Given the description of an element on the screen output the (x, y) to click on. 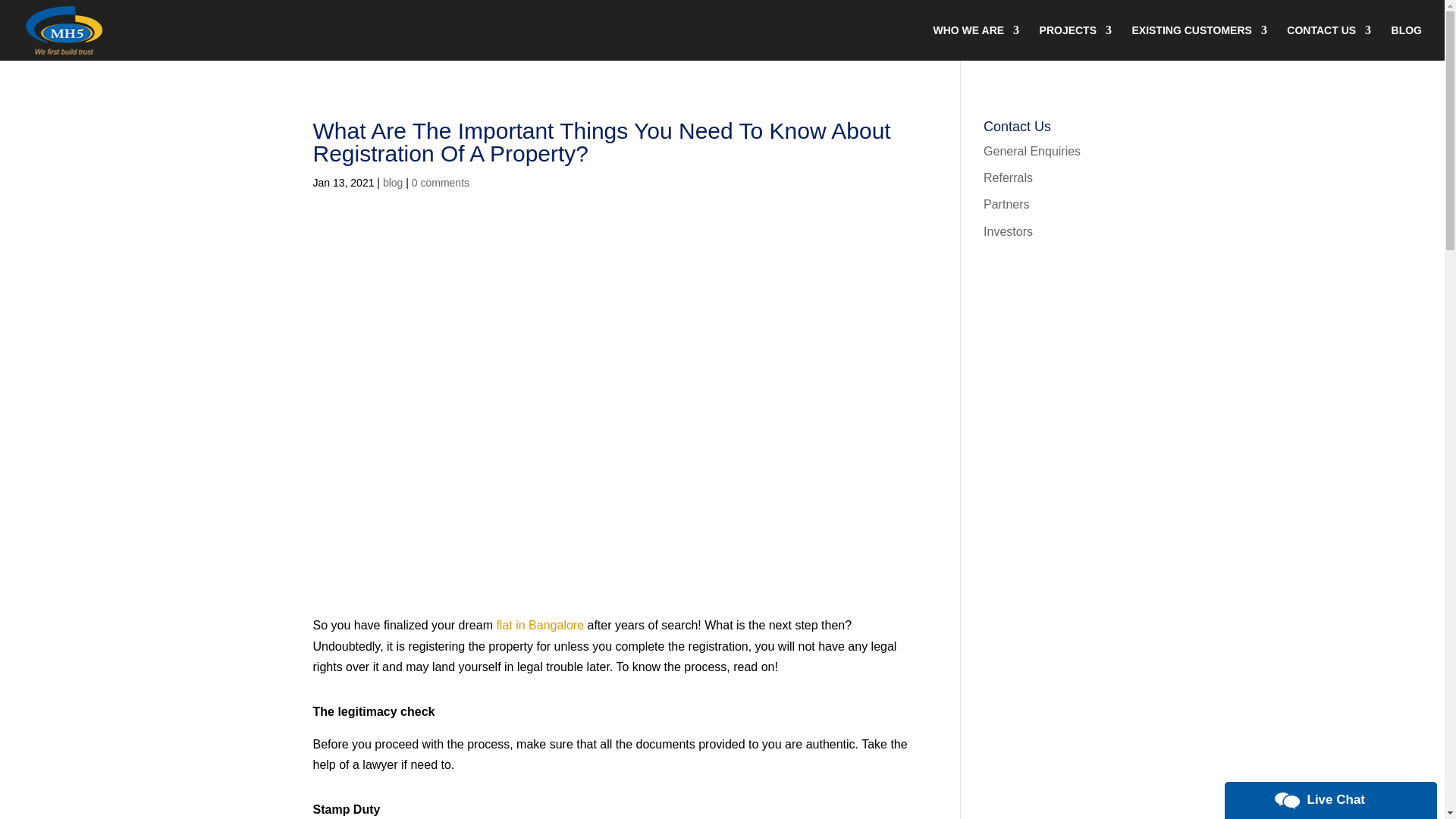
PROJECTS (1075, 42)
WHO WE ARE (976, 42)
CONTACT US (1329, 42)
blog (392, 182)
EXISTING CUSTOMERS (1198, 42)
flat in Bangalore (539, 625)
0 comments (440, 182)
